Given the description of an element on the screen output the (x, y) to click on. 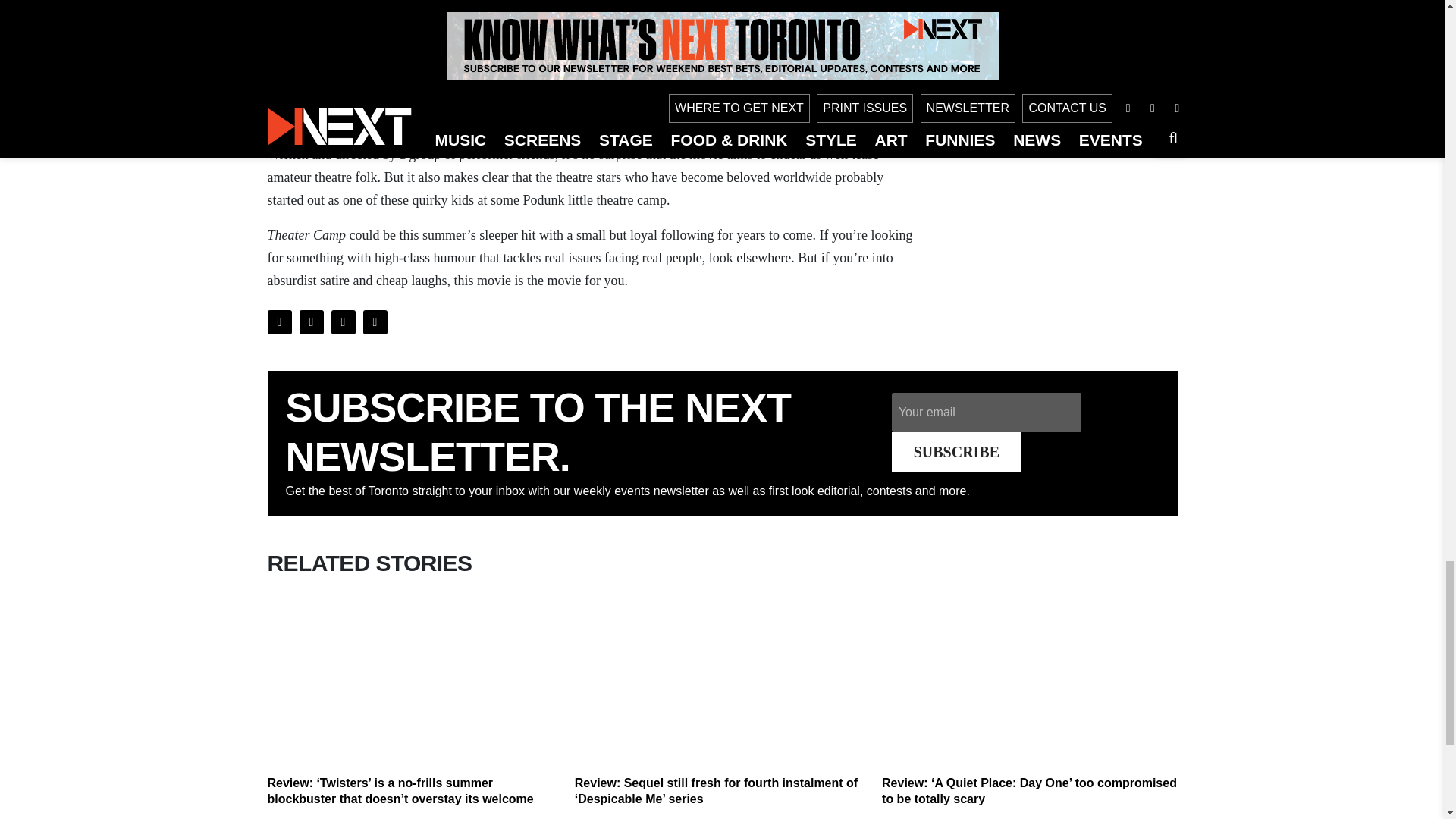
Subscribe (956, 451)
